Given the description of an element on the screen output the (x, y) to click on. 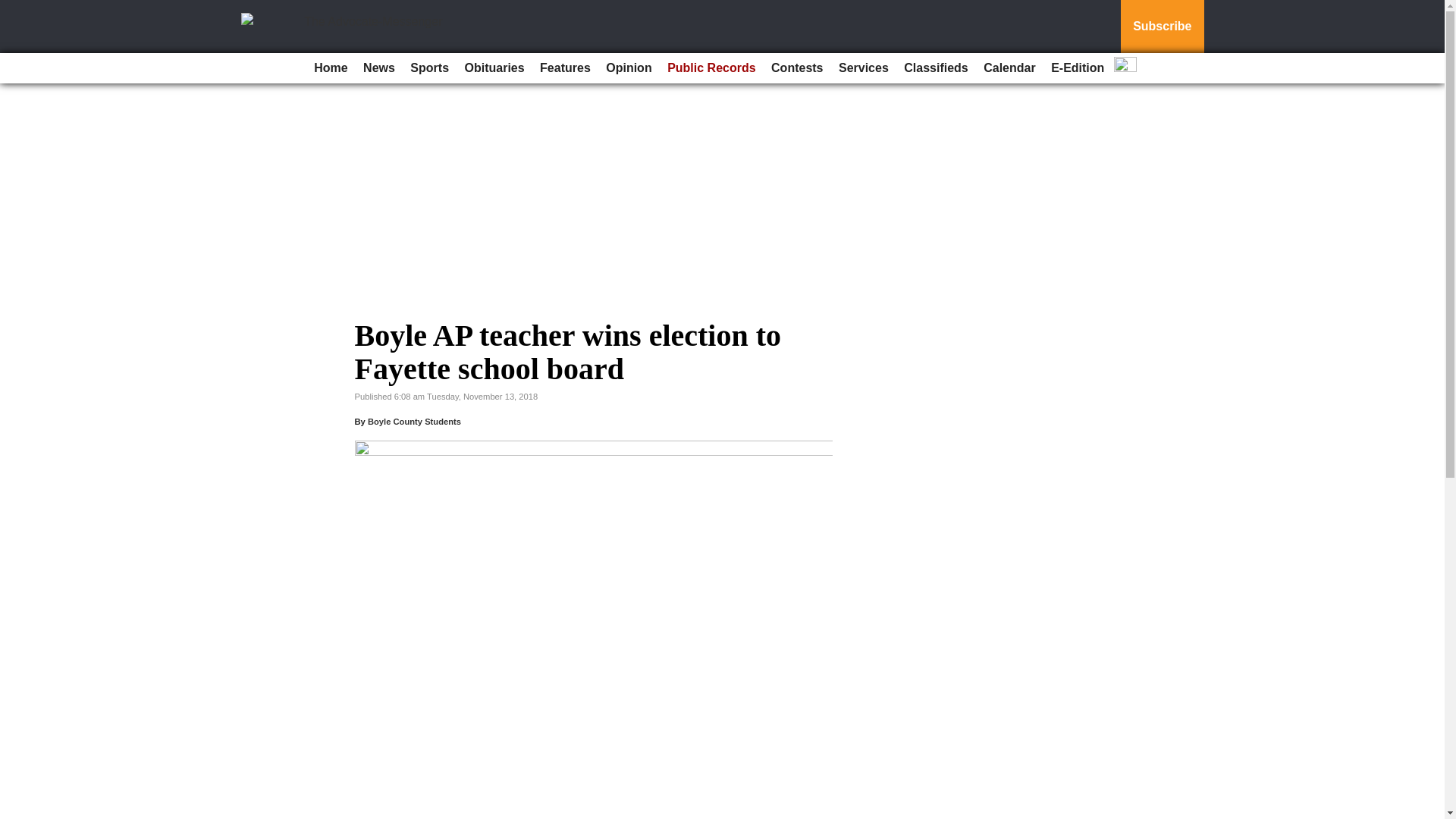
Opinion (628, 68)
Sports (429, 68)
Public Records (711, 68)
Obituaries (493, 68)
Features (565, 68)
Go (13, 9)
Classifieds (936, 68)
News (378, 68)
Calendar (1008, 68)
Services (863, 68)
